Given the description of an element on the screen output the (x, y) to click on. 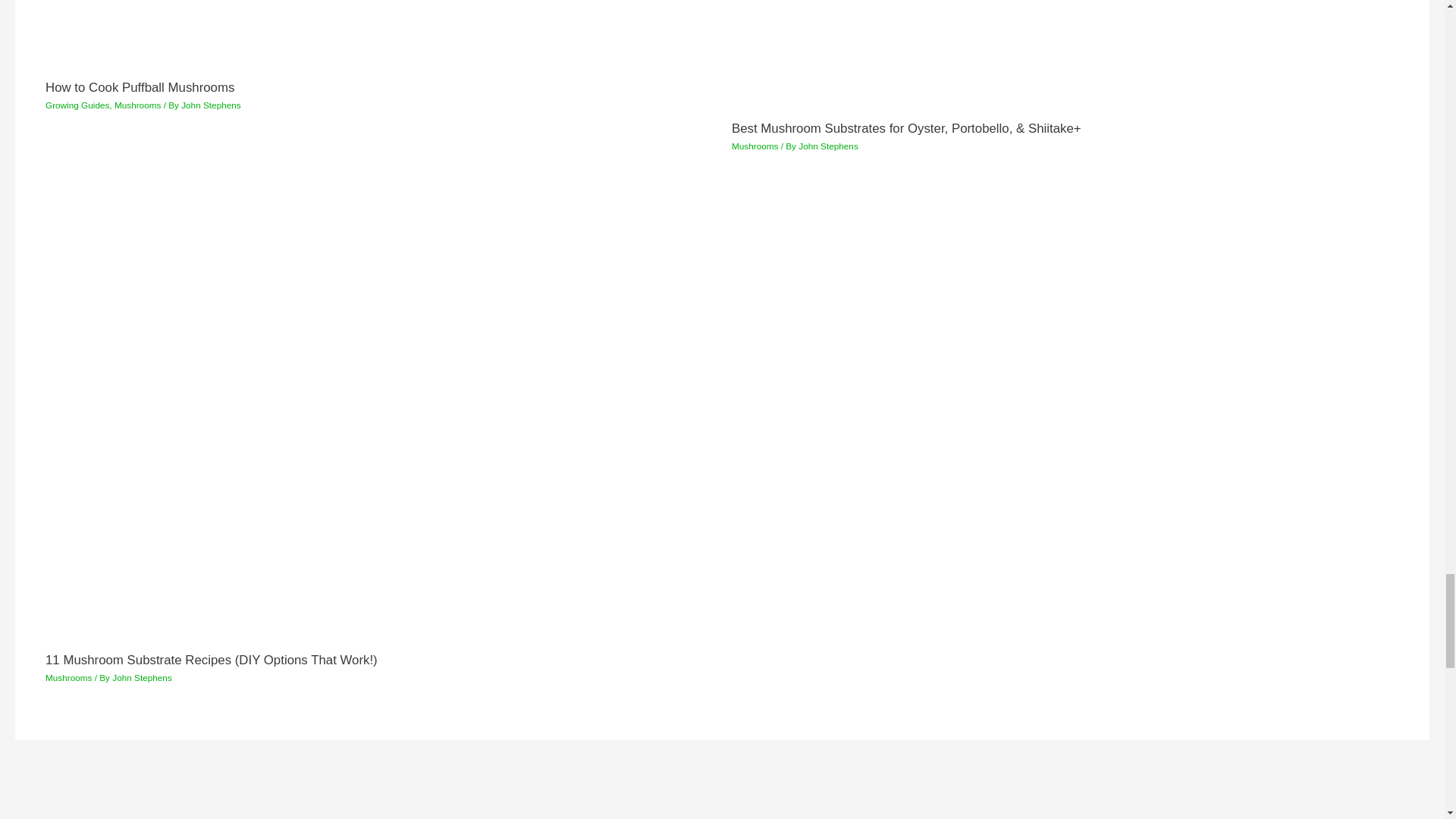
How to Cook Puffball Mushrooms (139, 87)
View all posts by John Stephens (210, 104)
View all posts by John Stephens (828, 145)
View all posts by John Stephens (141, 677)
